Given the description of an element on the screen output the (x, y) to click on. 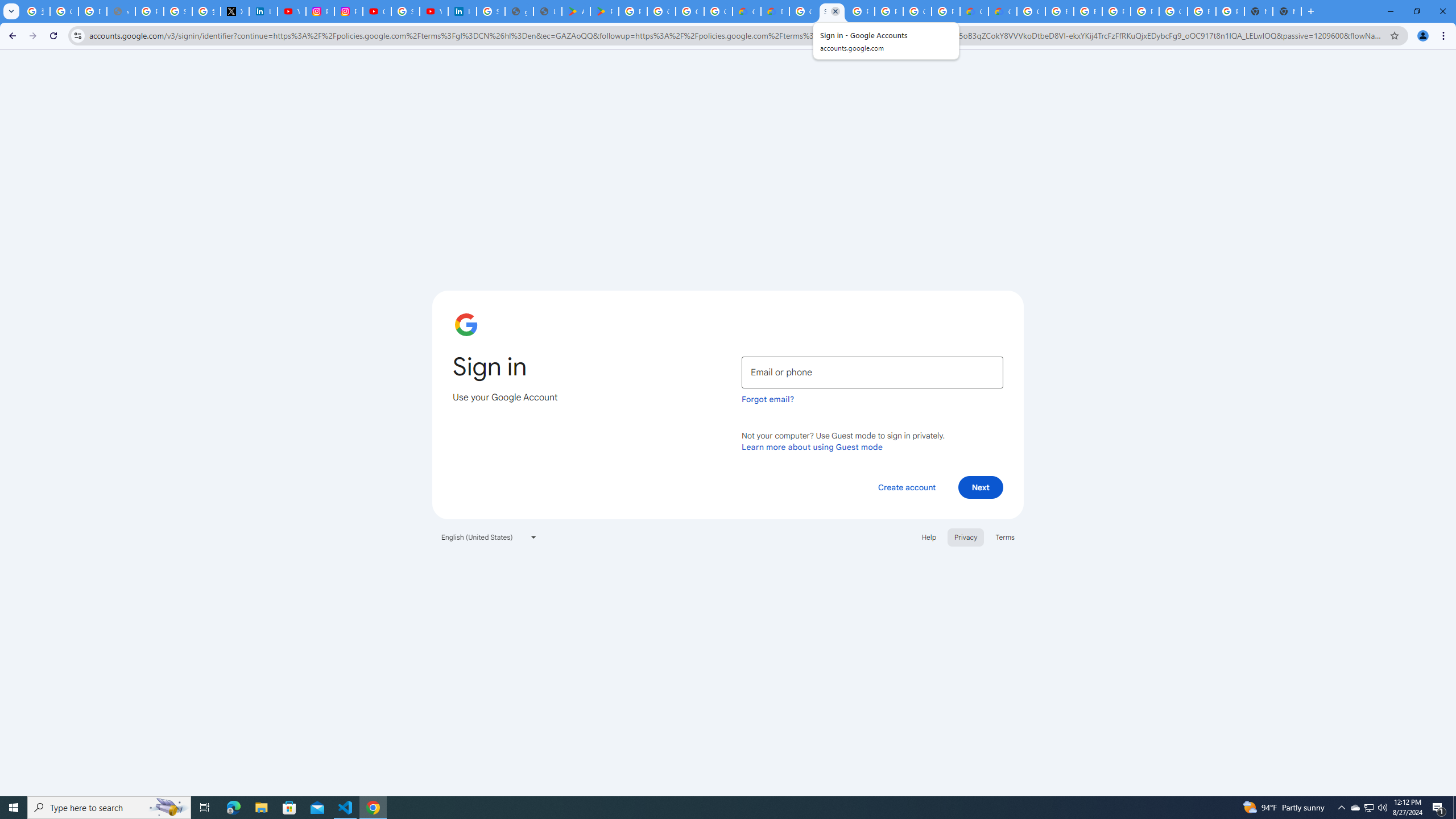
Email or phone (872, 372)
User Details (547, 11)
Forgot email? (767, 398)
Google Cloud Platform (803, 11)
